Given the description of an element on the screen output the (x, y) to click on. 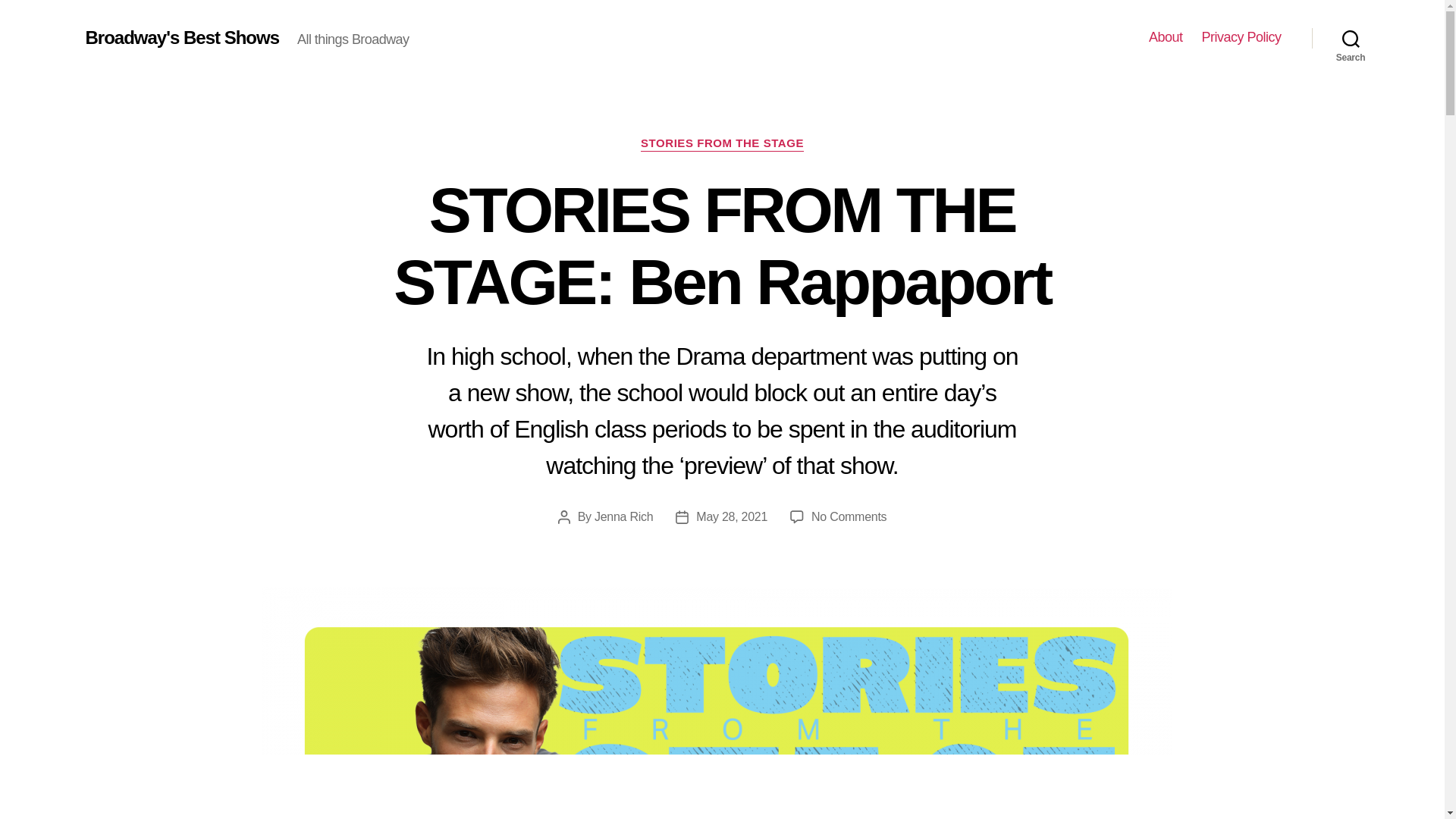
Privacy Policy (1241, 37)
Jenna Rich (623, 516)
STORIES FROM THE STAGE (721, 143)
Search (1350, 37)
About (848, 516)
Broadway's Best Shows (1165, 37)
May 28, 2021 (181, 37)
